Given the description of an element on the screen output the (x, y) to click on. 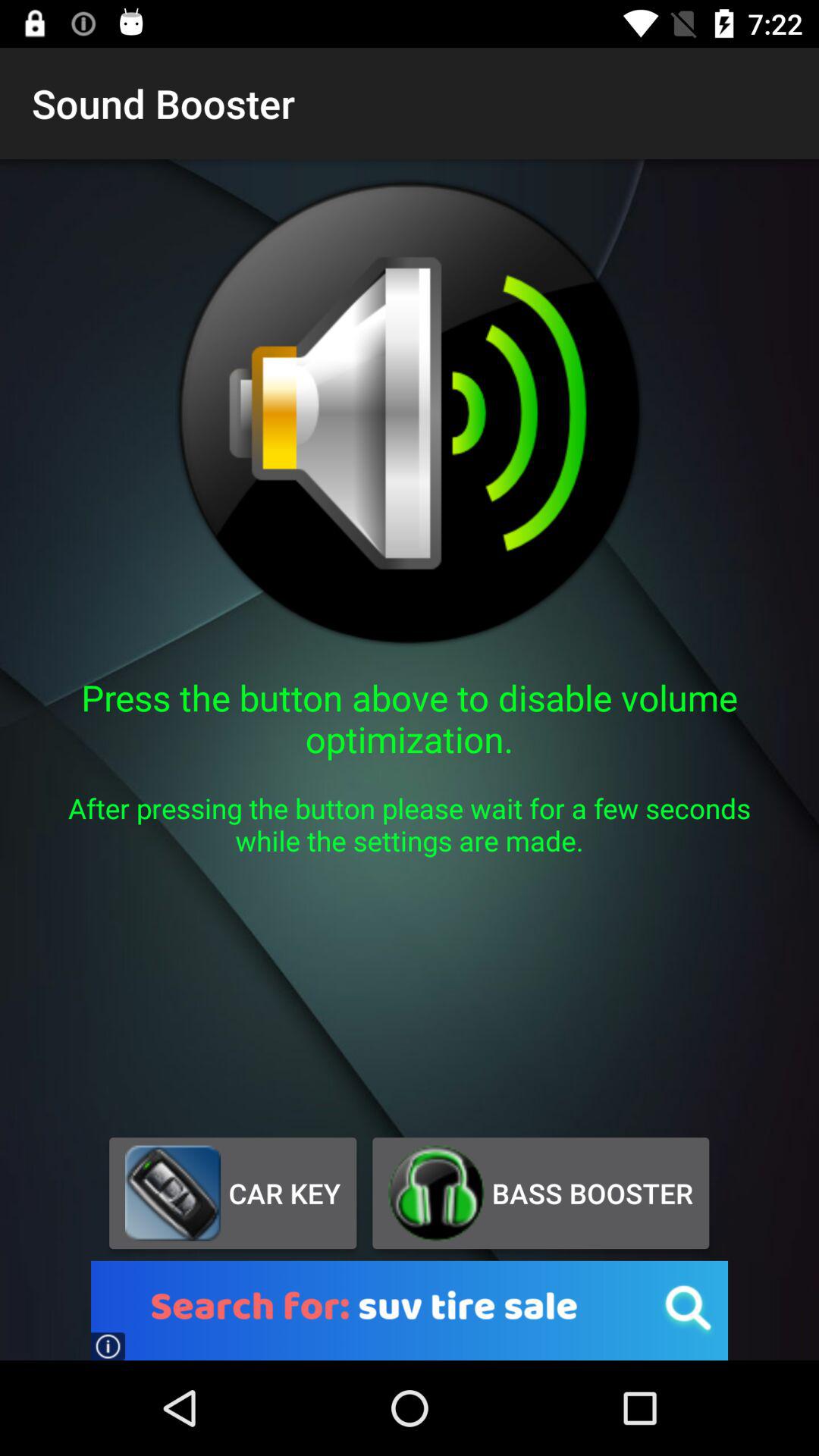
choose the car key icon (232, 1192)
